Given the description of an element on the screen output the (x, y) to click on. 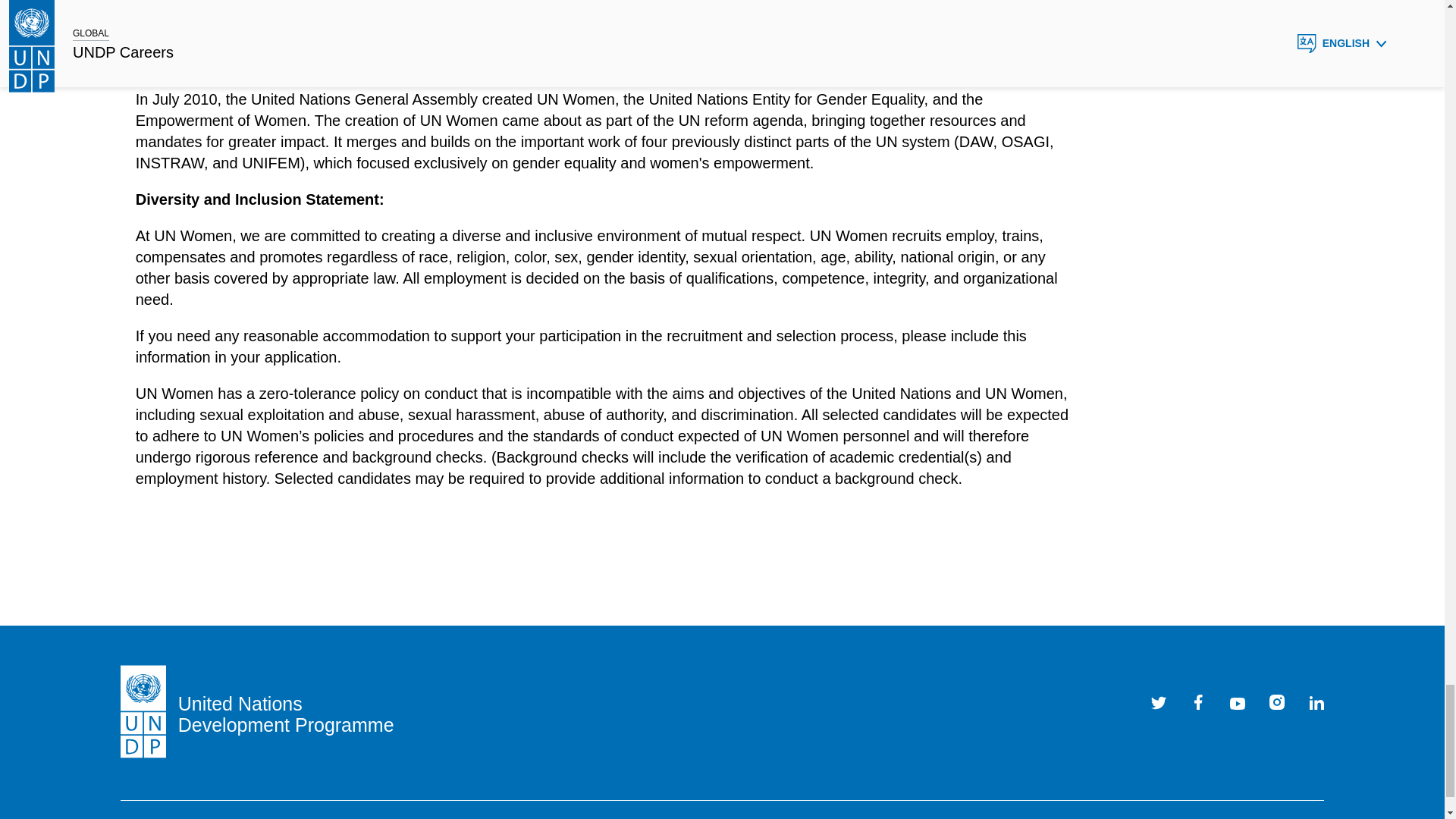
Facebook (1198, 702)
Twitter (1158, 702)
Instagram (1276, 702)
Youtube (1237, 702)
LinkedIn (1315, 702)
